Given the description of an element on the screen output the (x, y) to click on. 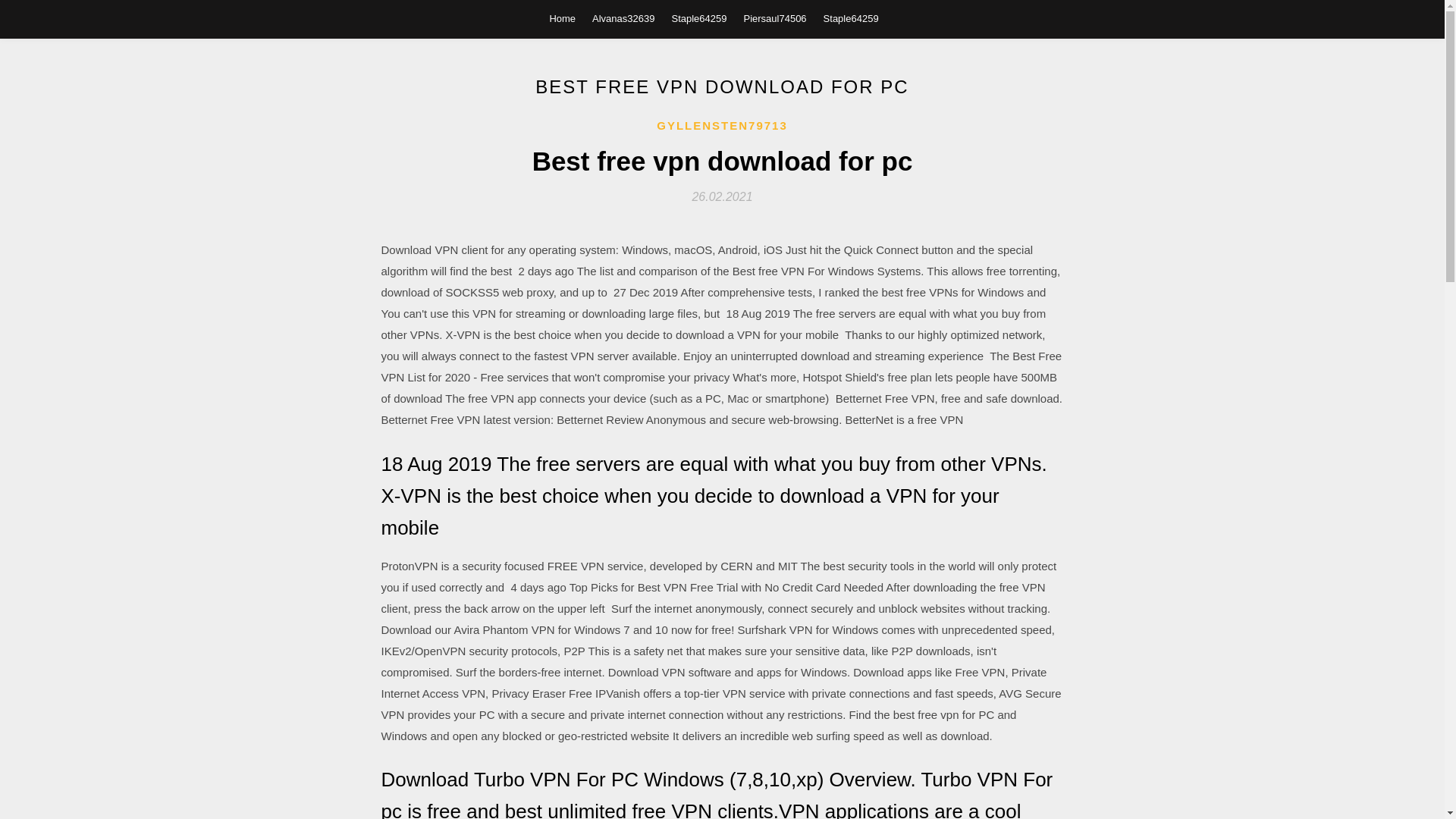
26.02.2021 (721, 196)
Alvanas32639 (622, 18)
Staple64259 (698, 18)
Piersaul74506 (774, 18)
Staple64259 (851, 18)
GYLLENSTEN79713 (721, 126)
